Given the description of an element on the screen output the (x, y) to click on. 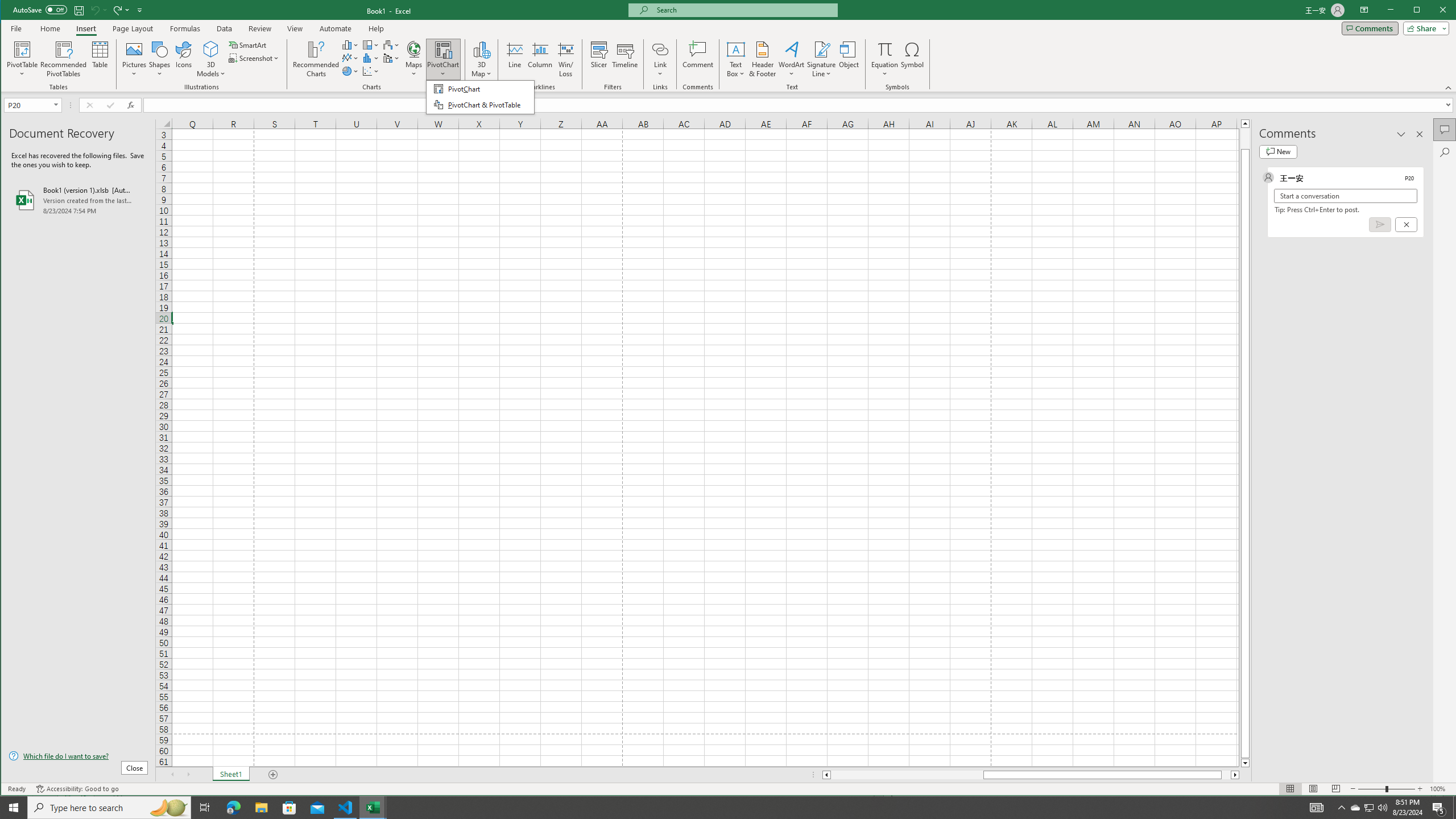
Insert Combo Chart (391, 57)
Comment (697, 59)
Post comment (Ctrl + Enter) (1379, 224)
Start a conversation (1344, 195)
Object... (848, 59)
3D Models (211, 48)
Link (659, 59)
Show desktop (1355, 807)
